Given the description of an element on the screen output the (x, y) to click on. 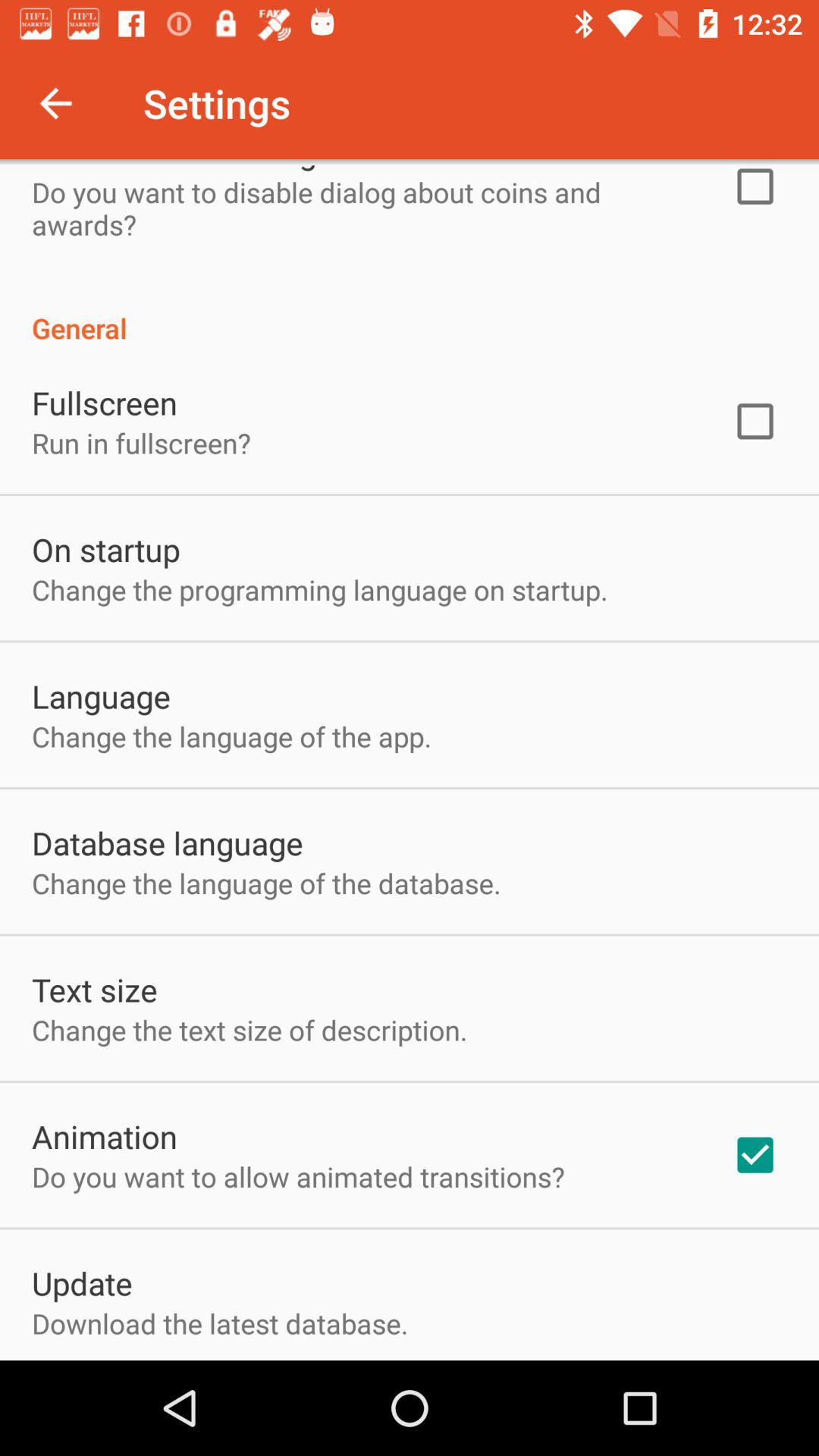
scroll until the download the latest (219, 1323)
